Given the description of an element on the screen output the (x, y) to click on. 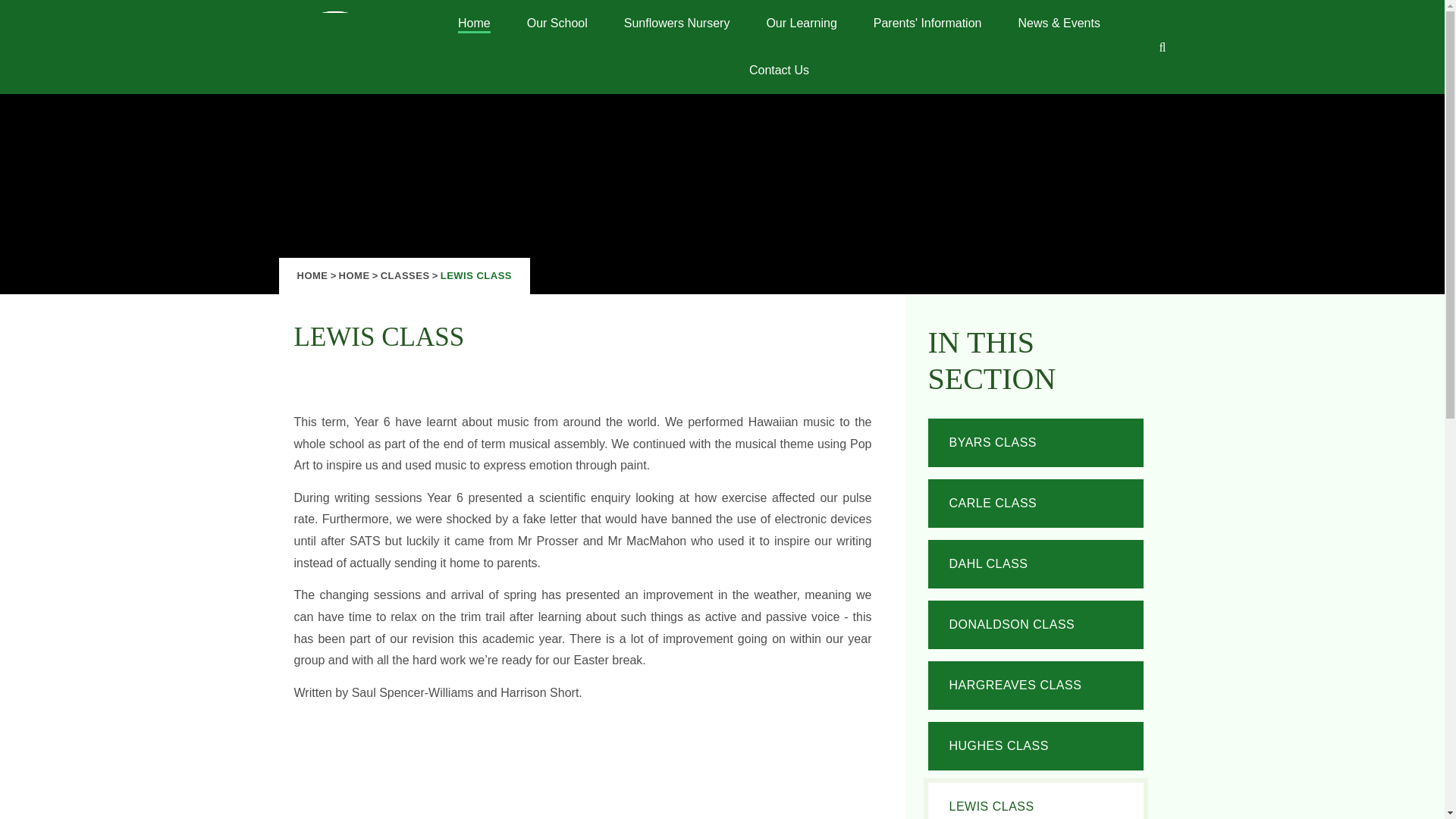
Our School (556, 23)
Home (473, 23)
